Given the description of an element on the screen output the (x, y) to click on. 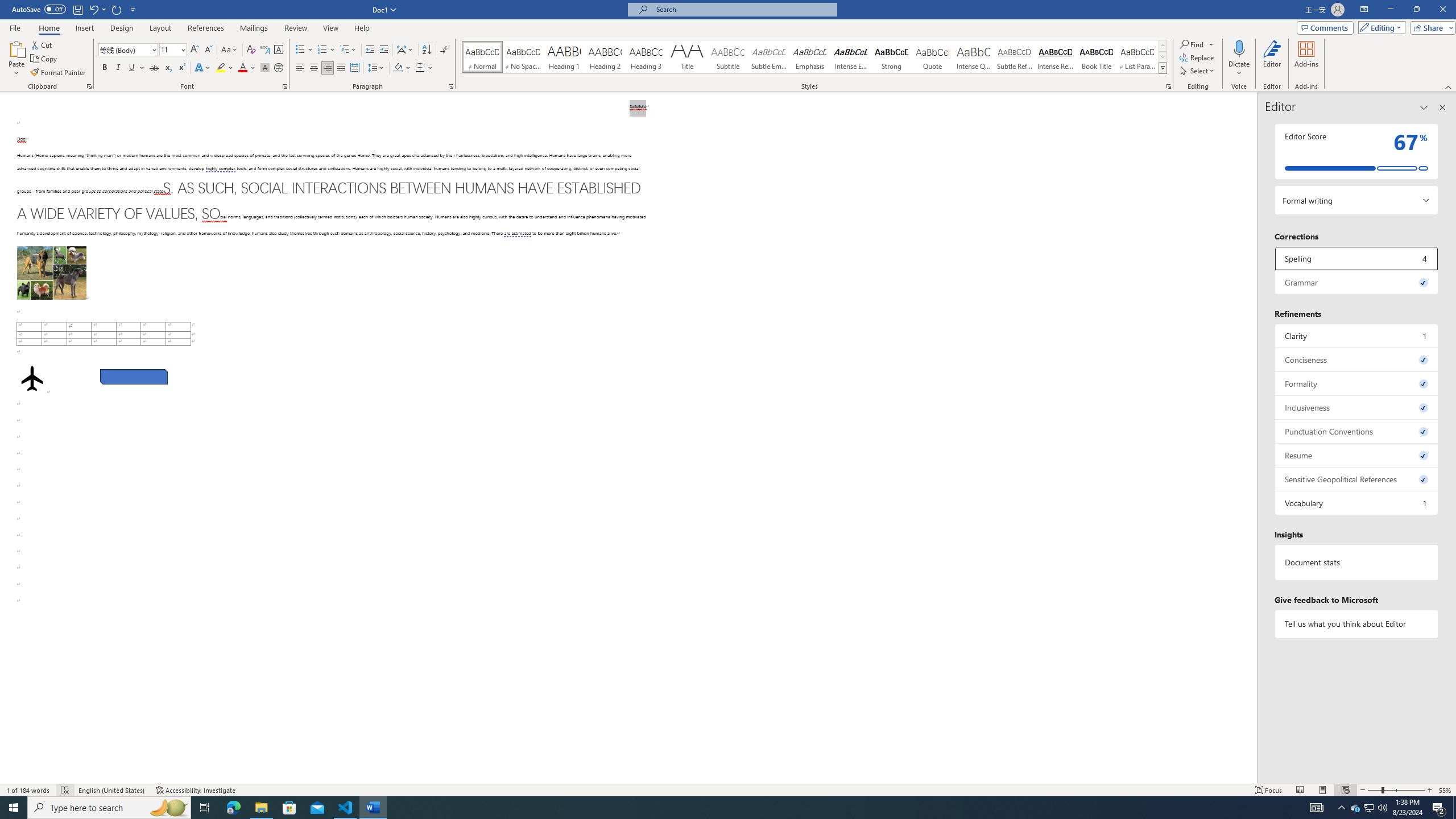
Grammar, 0 issues. Press space or enter to review items. (1356, 282)
Quote (932, 56)
Heading 2 (605, 56)
Subtle Emphasis (768, 56)
